Given the description of an element on the screen output the (x, y) to click on. 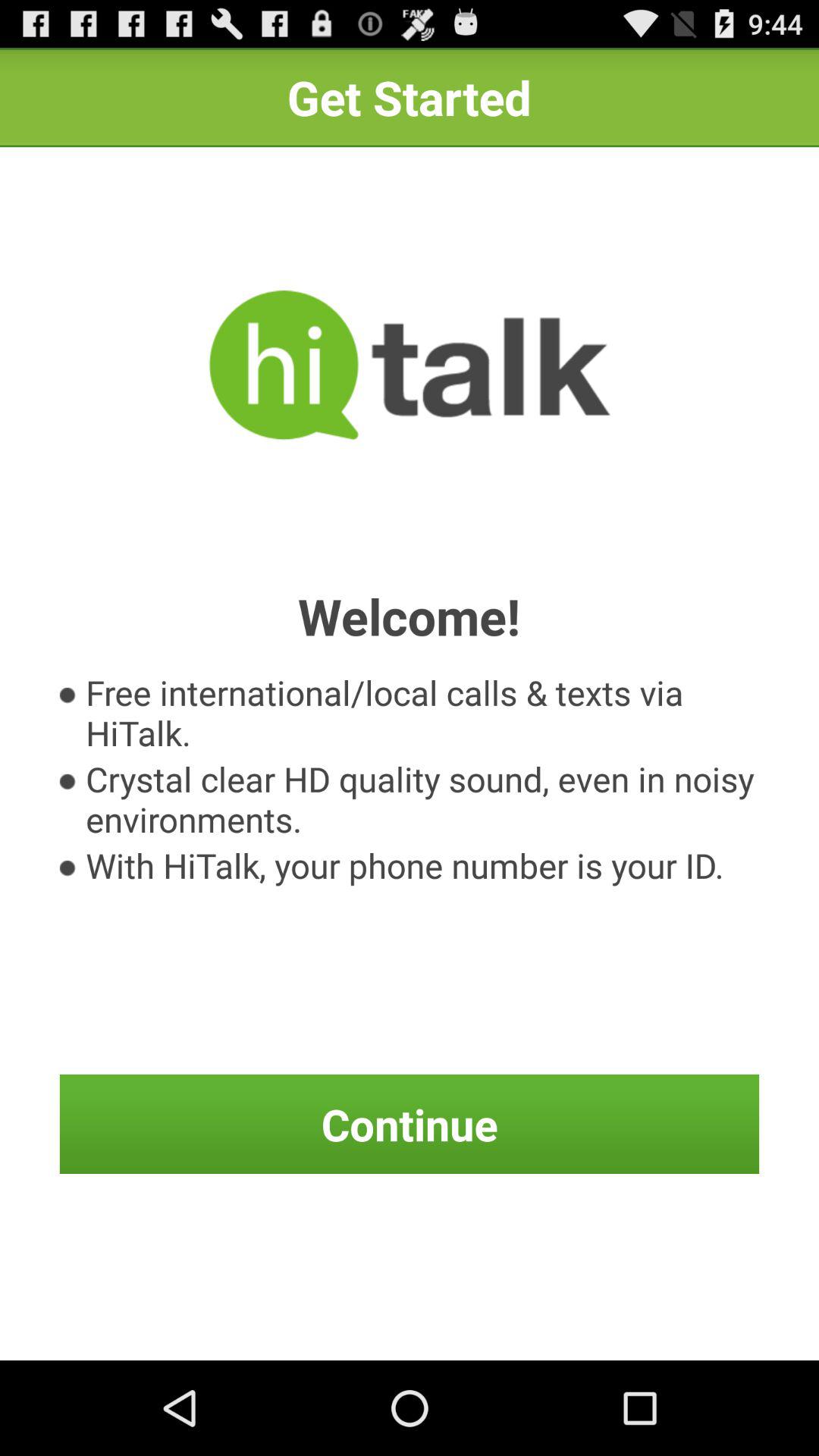
launch the continue (409, 1123)
